Given the description of an element on the screen output the (x, y) to click on. 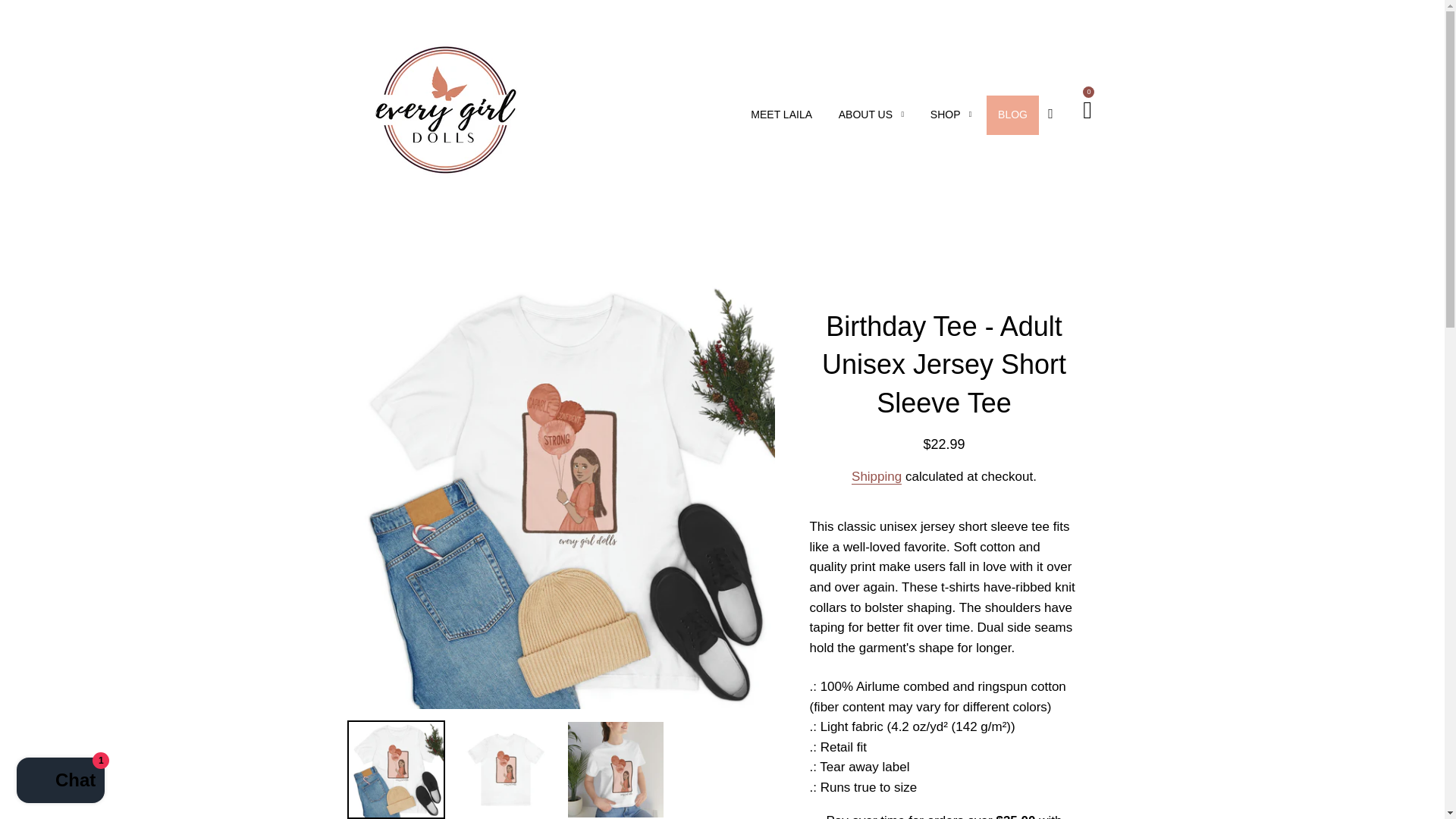
ABOUT US (871, 115)
SHOP (950, 115)
BLOG (1013, 115)
Shopify online store chat (60, 781)
MEET LAILA (781, 115)
